Given the description of an element on the screen output the (x, y) to click on. 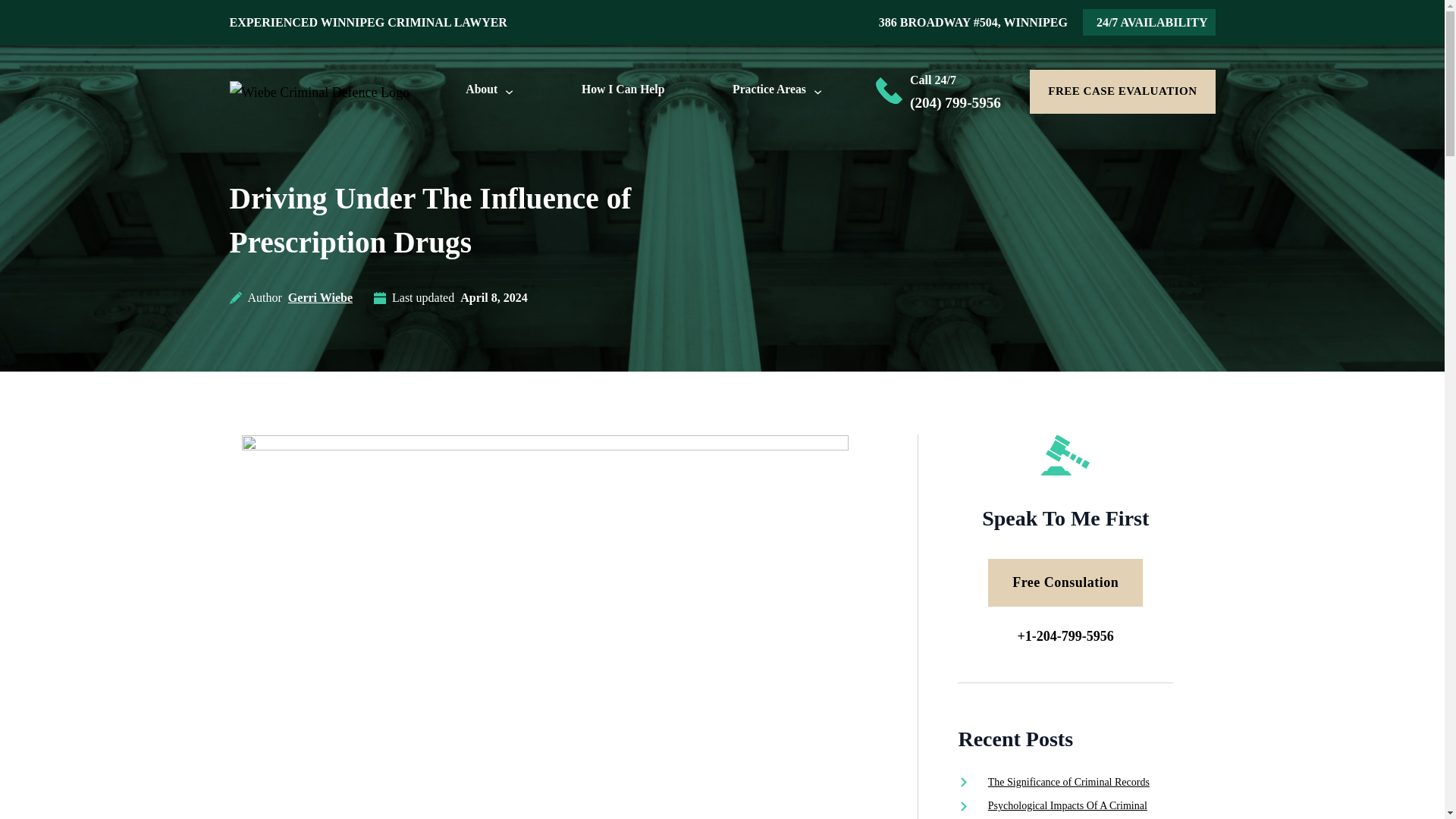
How I Can Help (621, 92)
Practice Areas (769, 91)
About (481, 91)
